Given the description of an element on the screen output the (x, y) to click on. 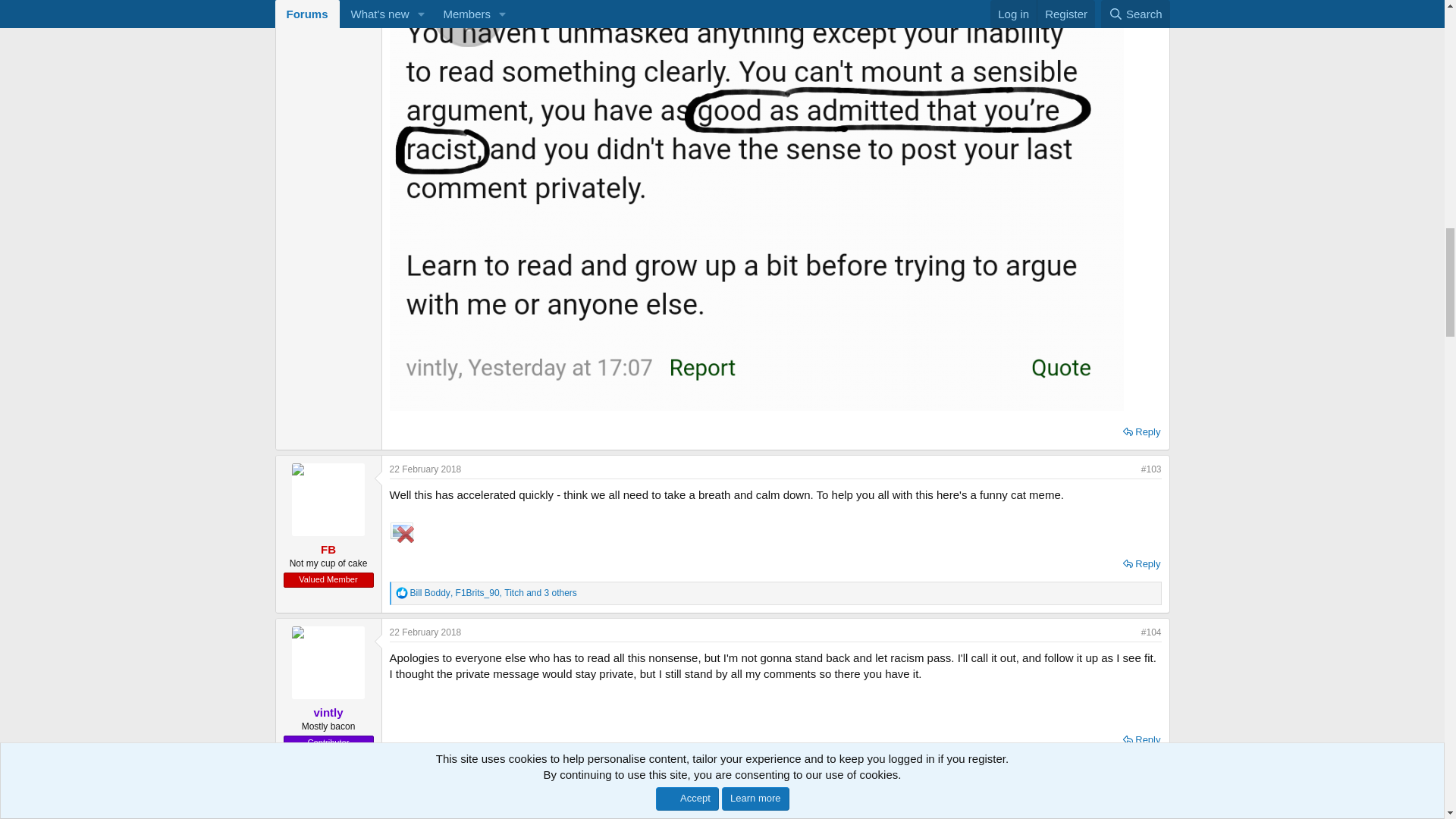
Reply, quoting this message (1141, 432)
Reply, quoting this message (1141, 564)
22 February 2018 at 16:20 (425, 469)
